Given the description of an element on the screen output the (x, y) to click on. 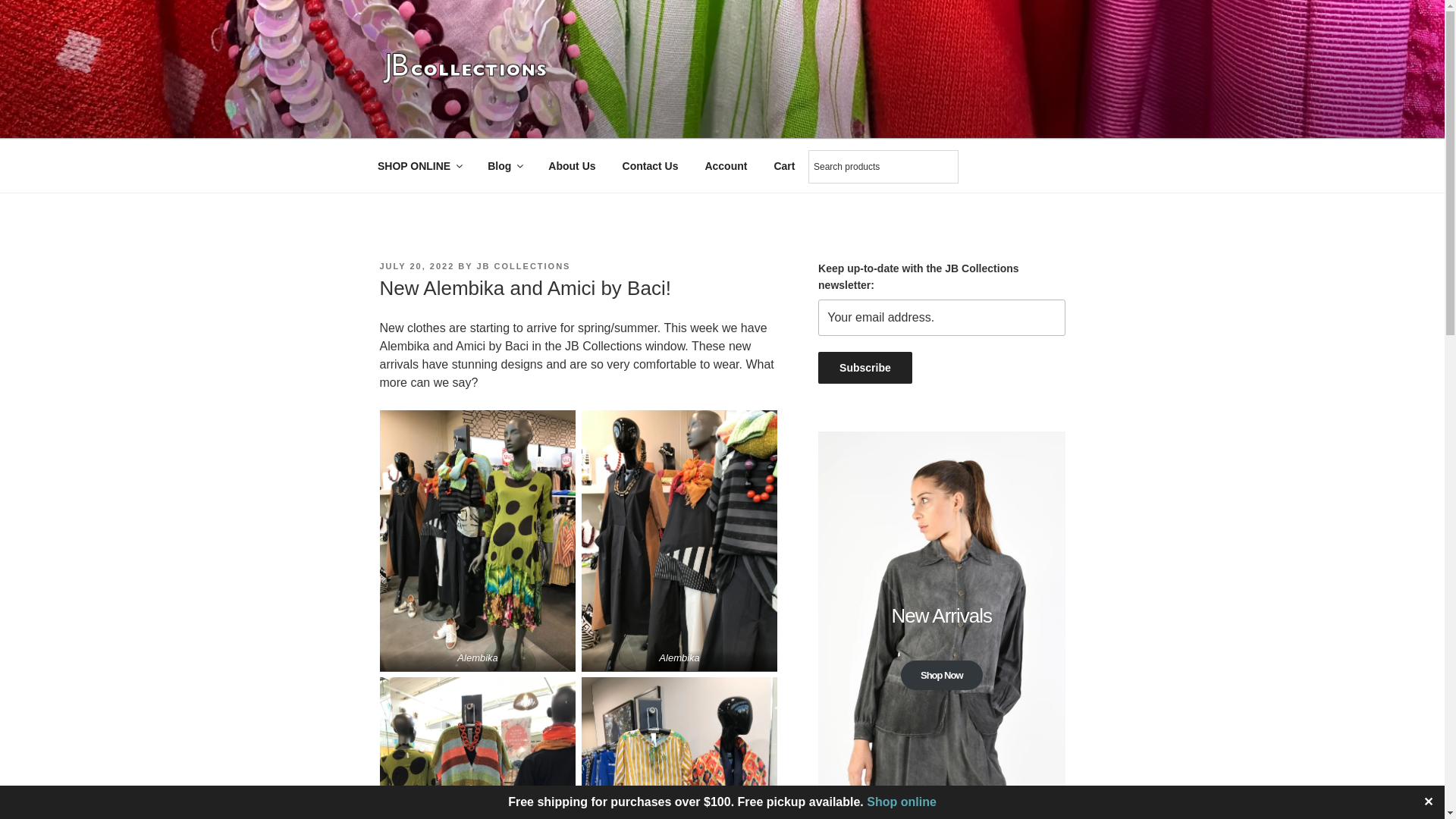
About Us (571, 165)
Shop online (901, 801)
Cart (784, 165)
SHOP ONLINE (419, 165)
JULY 20, 2022 (416, 266)
Subscribe (865, 368)
Blog (504, 165)
Contact Us (649, 165)
Account (725, 165)
JB COLLECTIONS (523, 266)
